Given the description of an element on the screen output the (x, y) to click on. 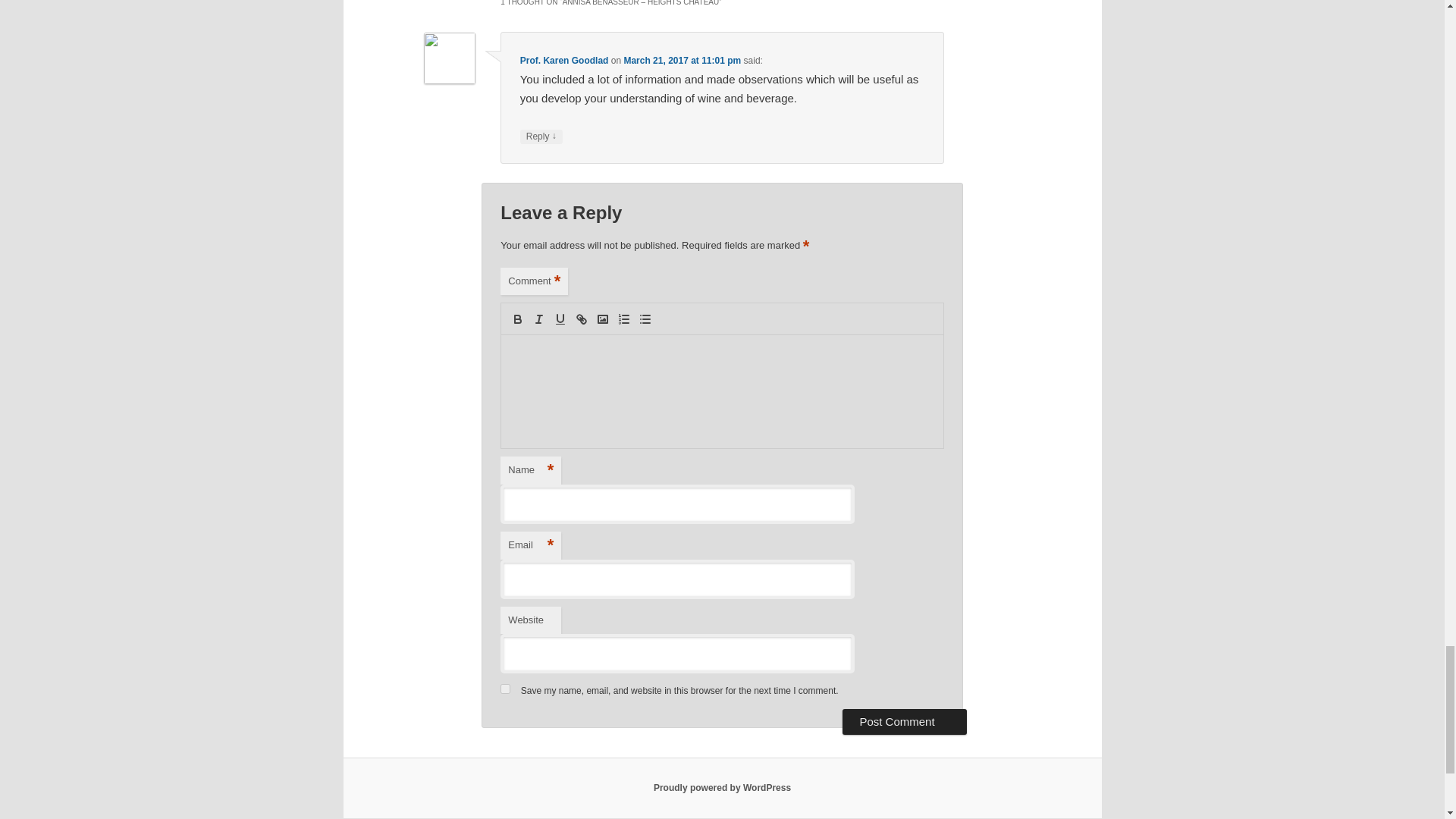
yes (505, 688)
Semantic Personal Publishing Platform (721, 787)
Post Comment (904, 721)
